Given the description of an element on the screen output the (x, y) to click on. 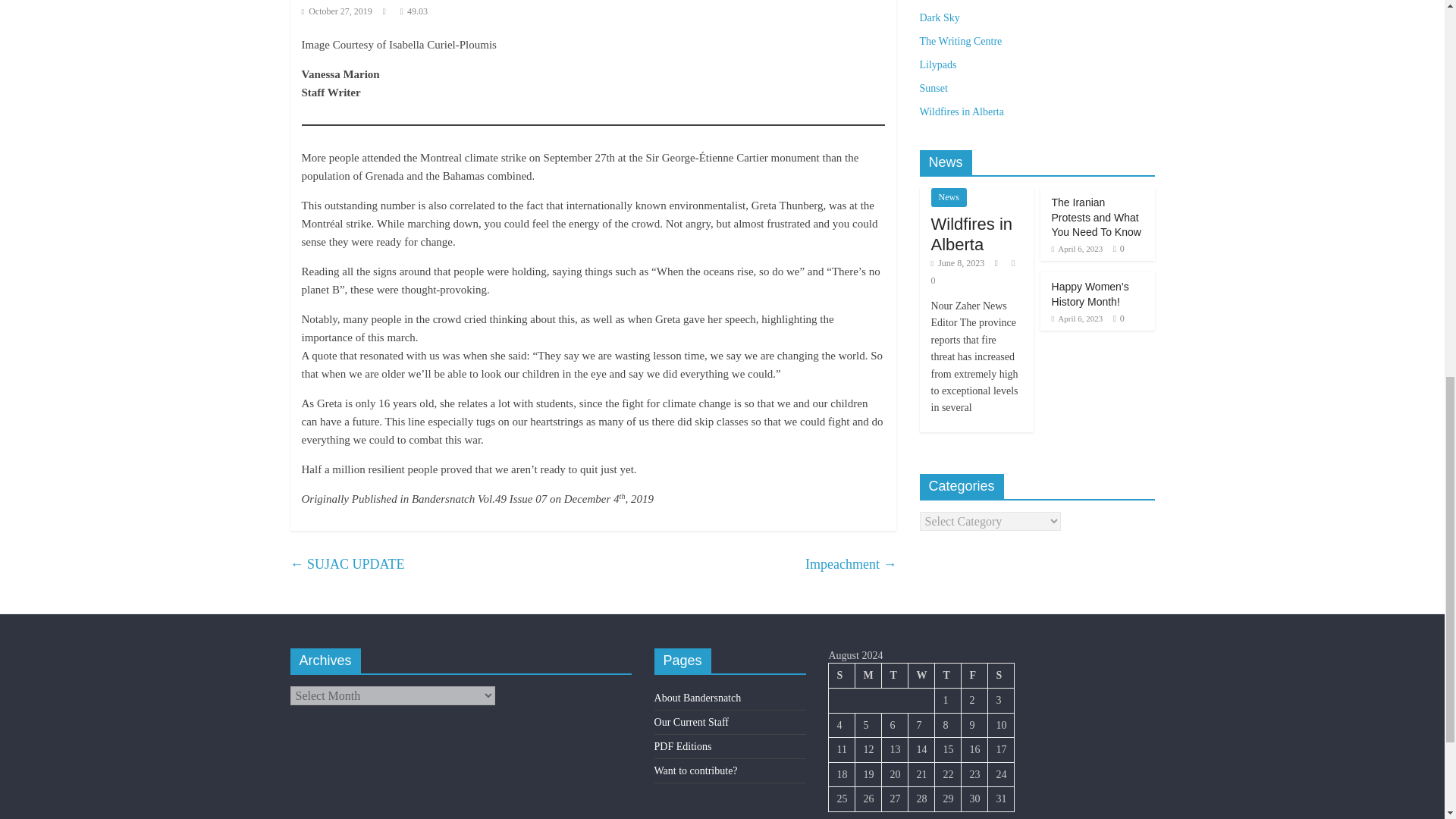
49.03 (417, 10)
9:34 am (958, 262)
Wildfires in Alberta (972, 233)
October 27, 2019 (336, 10)
The Iranian Protests and What You Need To Know (1096, 217)
8:30 am (1077, 248)
5:30 pm (336, 10)
8:30 am (1077, 317)
